Given the description of an element on the screen output the (x, y) to click on. 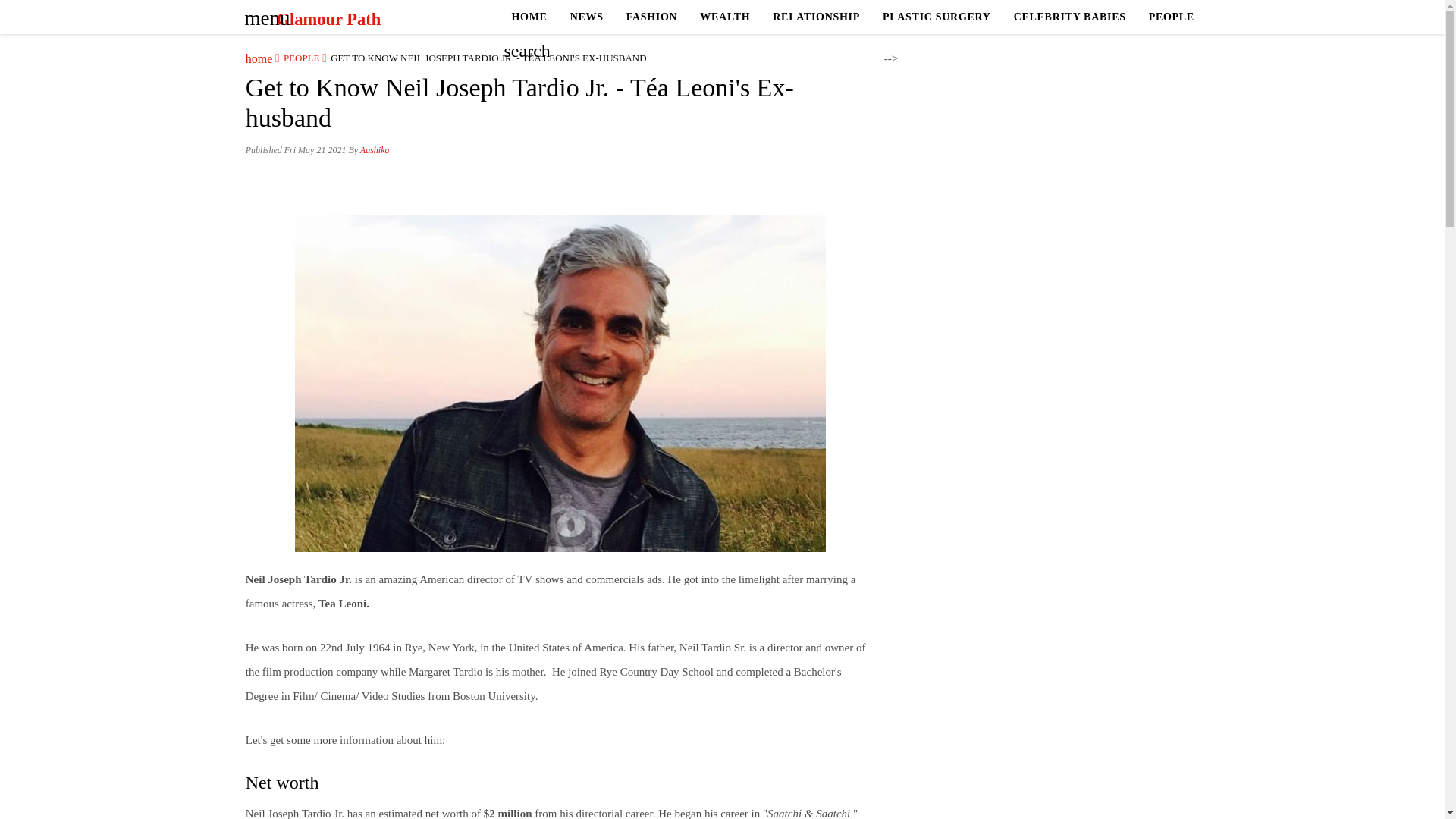
NEWS (586, 17)
HOME (529, 17)
menu (262, 13)
FASHION (651, 17)
home (259, 57)
PLASTIC SURGERY (936, 17)
CELEBRITY BABIES (1070, 17)
WEALTH (724, 17)
PEOPLE (297, 57)
PEOPLE (1171, 17)
Aashika (374, 149)
RELATIONSHIP (815, 17)
Glamour Path (328, 18)
